Given the description of an element on the screen output the (x, y) to click on. 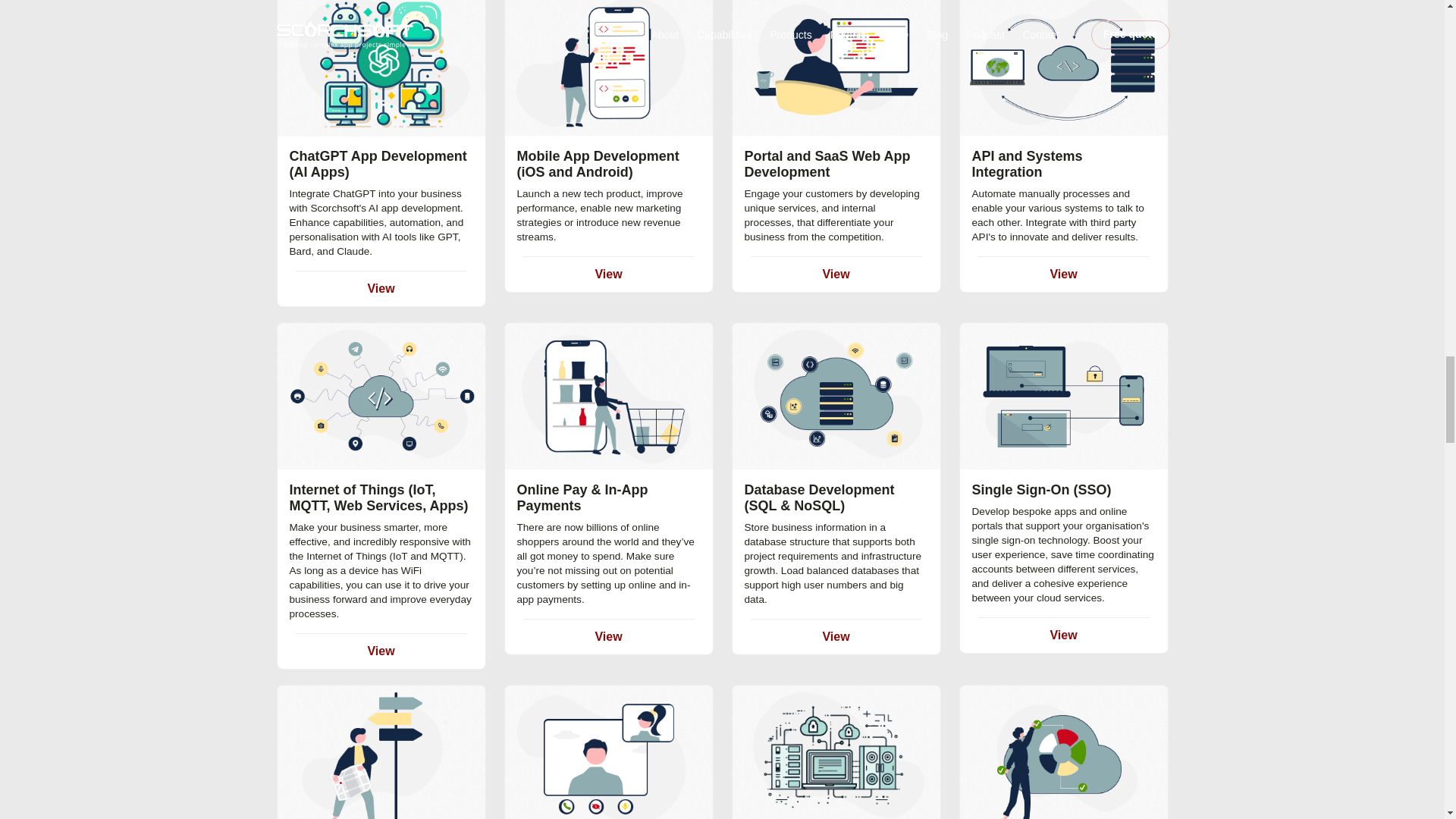
View (607, 635)
View (380, 287)
View (835, 273)
View (380, 650)
View (1063, 634)
View (607, 273)
View (835, 635)
View (1063, 273)
